Given the description of an element on the screen output the (x, y) to click on. 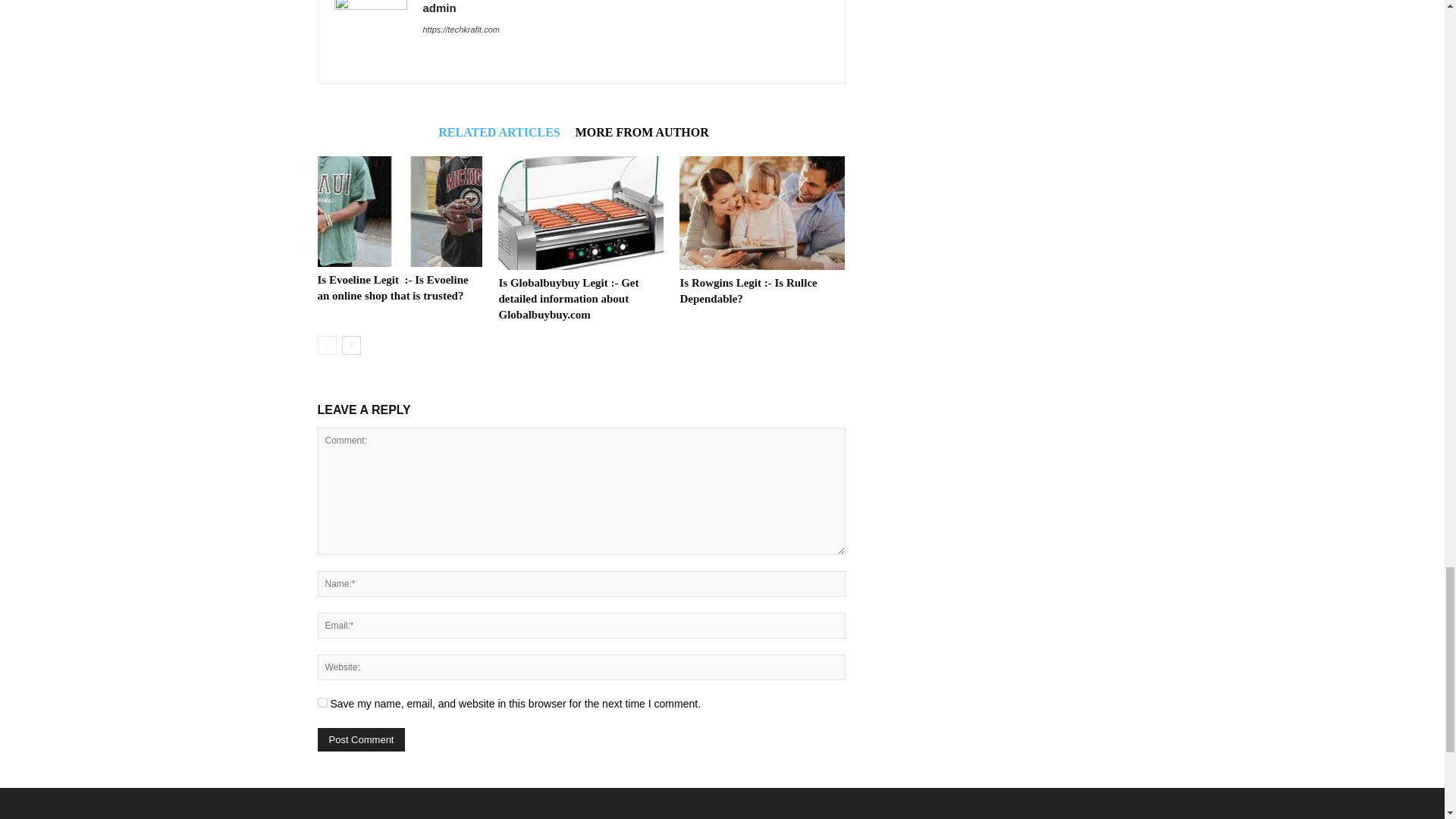
Post Comment (360, 739)
yes (321, 702)
